Given the description of an element on the screen output the (x, y) to click on. 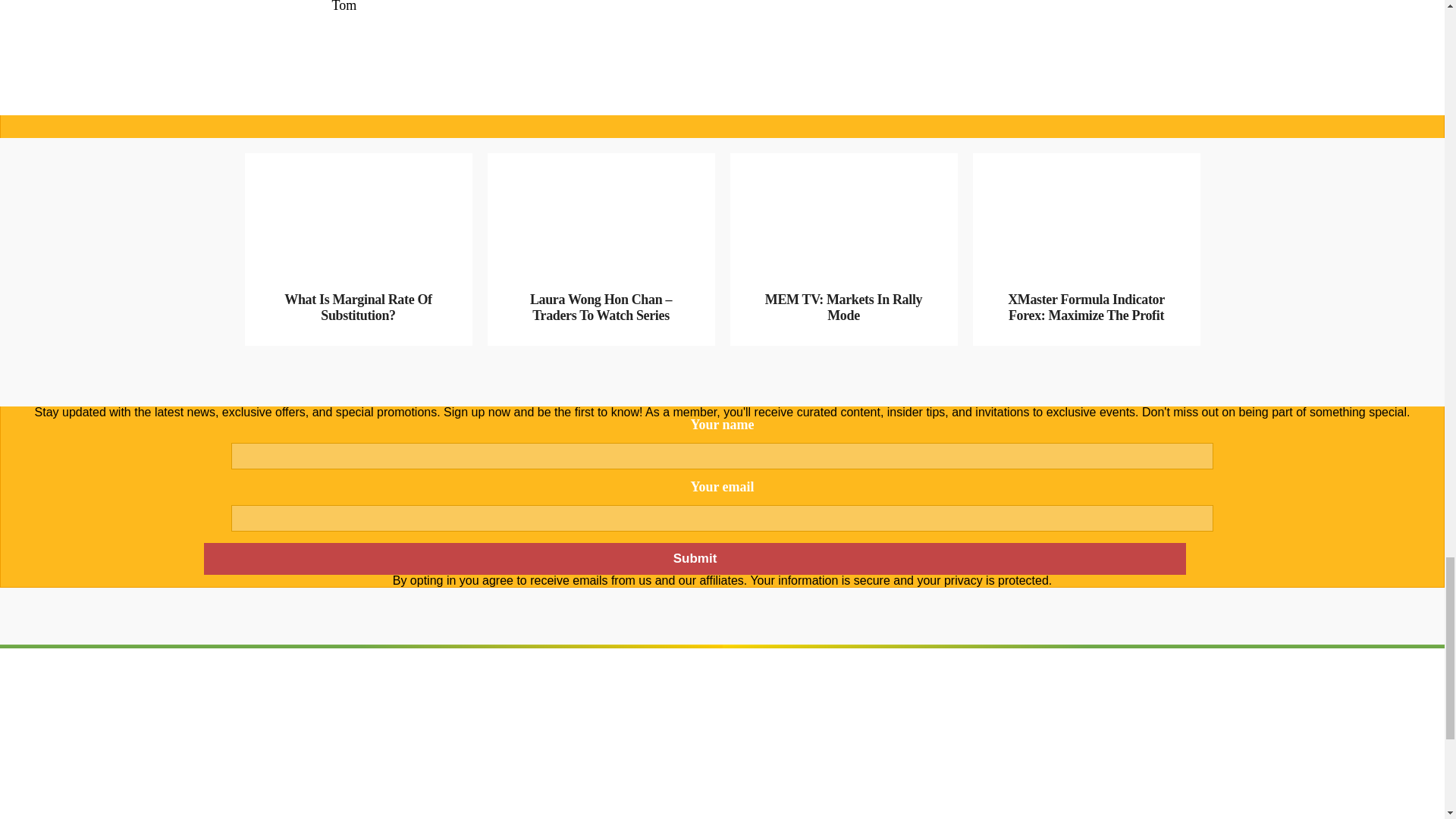
Submit (694, 558)
